Given the description of an element on the screen output the (x, y) to click on. 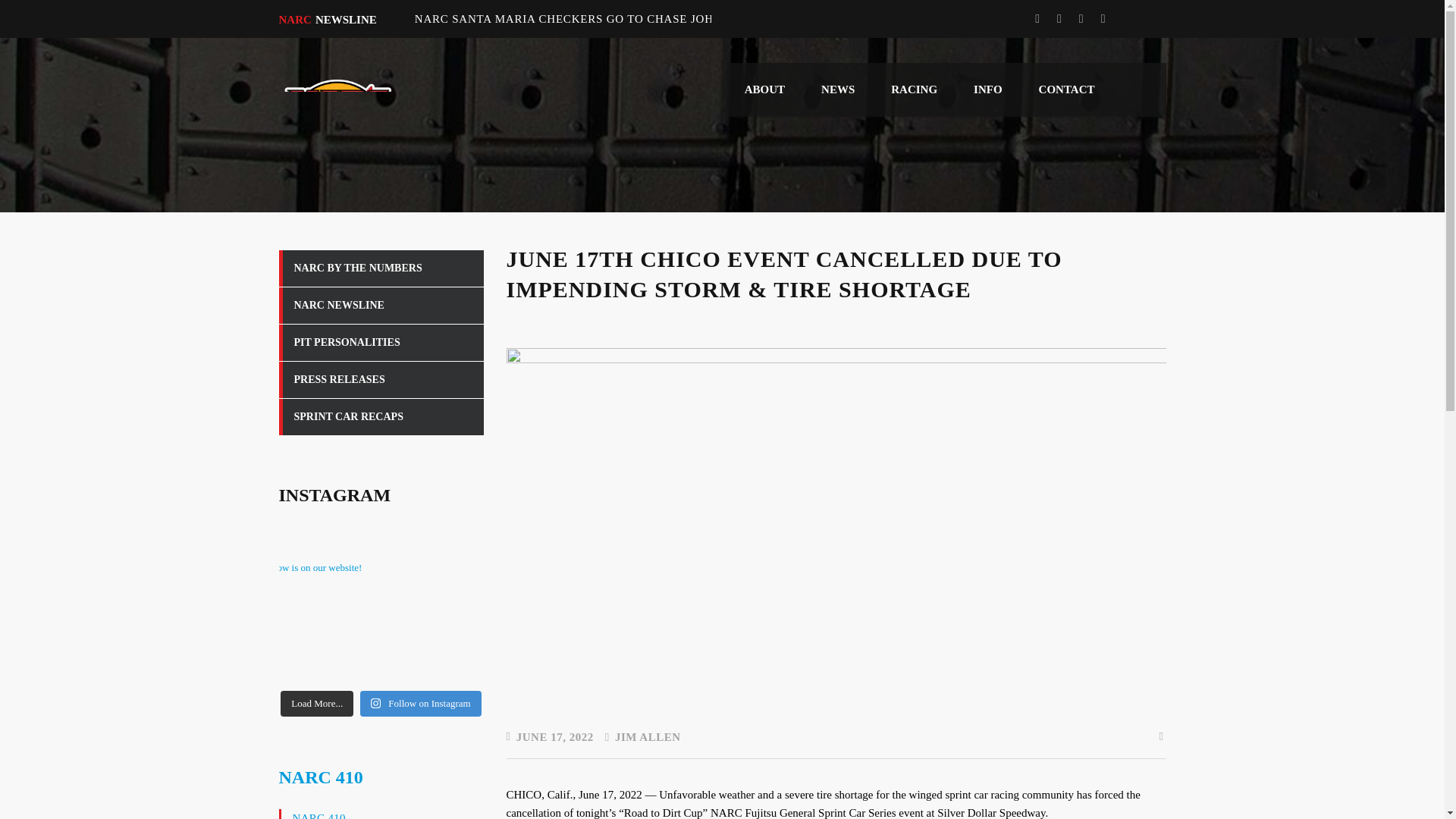
NARC SANTA MARIA CHECKERS GO TO CHASE JOHNSON (580, 19)
INFO (987, 89)
RACING (913, 89)
ABOUT (764, 89)
NEWS (837, 89)
Home (336, 131)
